Given the description of an element on the screen output the (x, y) to click on. 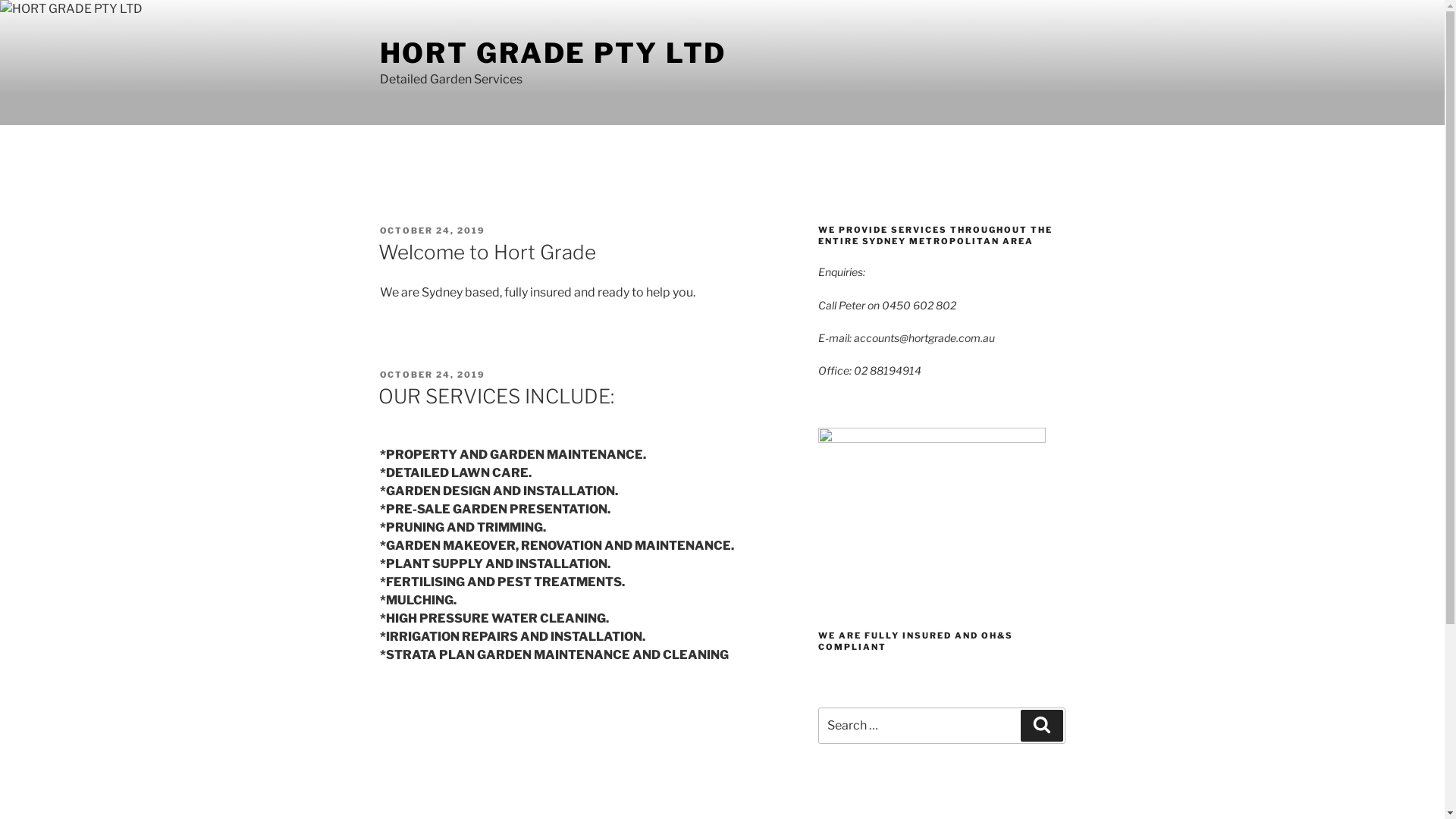
OCTOBER 24, 2019 Element type: text (432, 229)
OCTOBER 24, 2019 Element type: text (432, 374)
Skip to content Element type: text (0, 0)
Welcome to Hort Grade Element type: text (486, 251)
Search Element type: text (1041, 725)
OUR SERVICES INCLUDE: Element type: text (495, 395)
HORT GRADE PTY LTD Element type: text (552, 52)
